Given the description of an element on the screen output the (x, y) to click on. 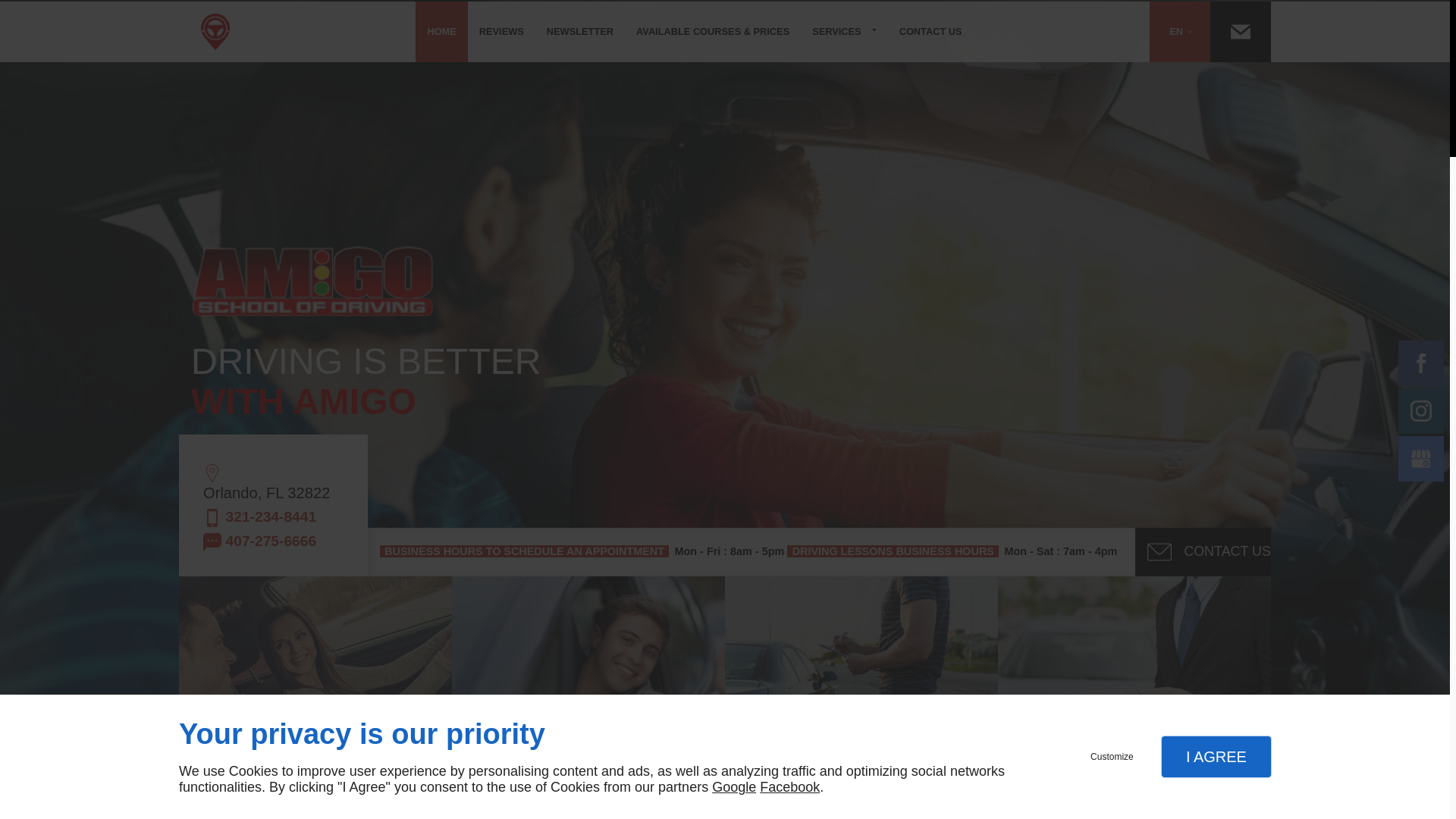
Instagram (1420, 411)
Facebook (1420, 361)
Mybusiness (1420, 457)
